Given the description of an element on the screen output the (x, y) to click on. 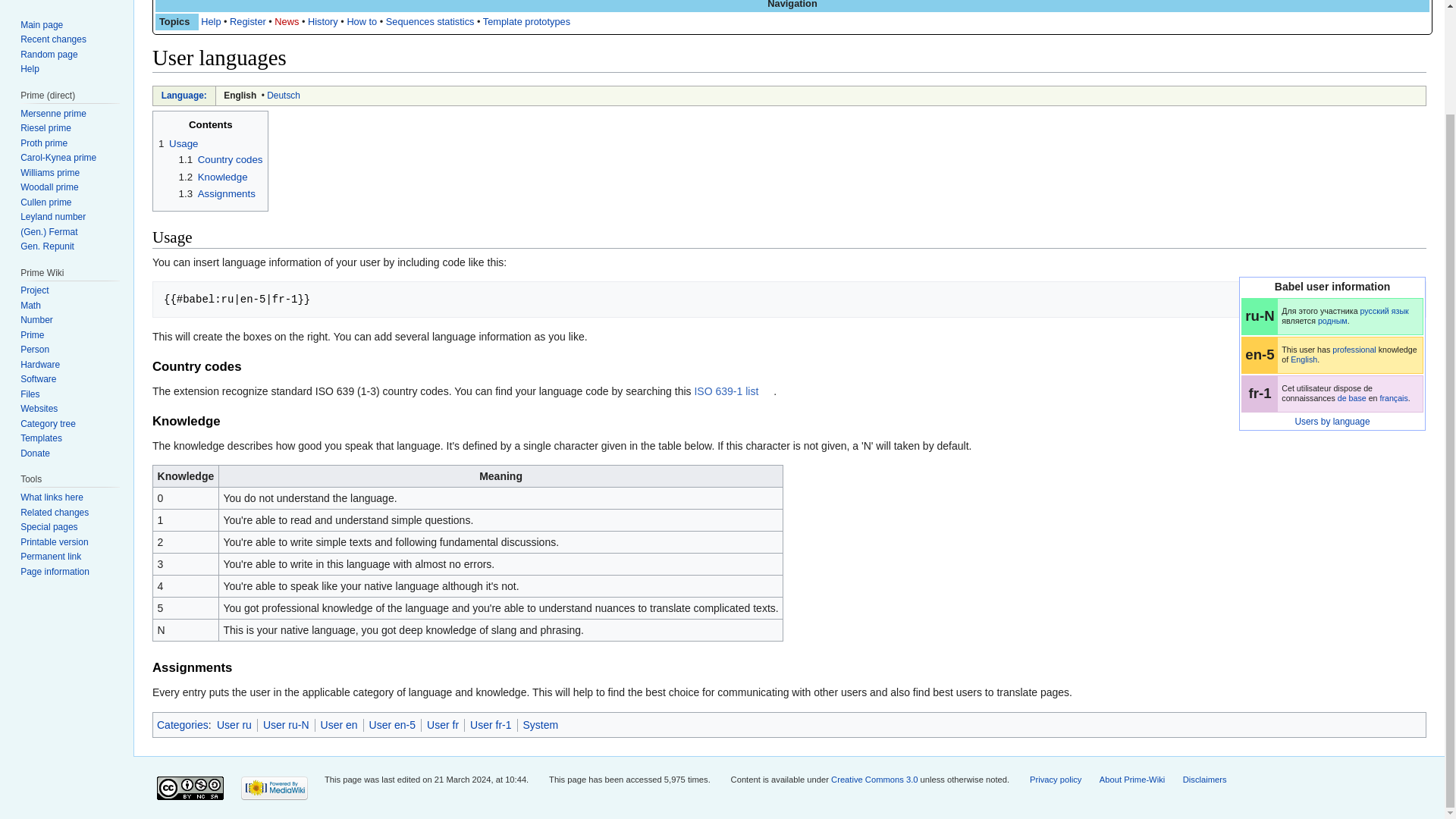
Category:User en-5 (1353, 348)
How to (361, 21)
English (240, 95)
Category:User ru (1384, 310)
1 Usage (178, 143)
Category:User fr-1 (1352, 397)
Category:User en (1303, 358)
Register (248, 21)
de base (1352, 397)
Template prototypes (526, 21)
PW:Languages (183, 95)
User ru-N (285, 725)
Categories (182, 725)
PW:Statistics (429, 21)
Category:User fr (1393, 397)
